Given the description of an element on the screen output the (x, y) to click on. 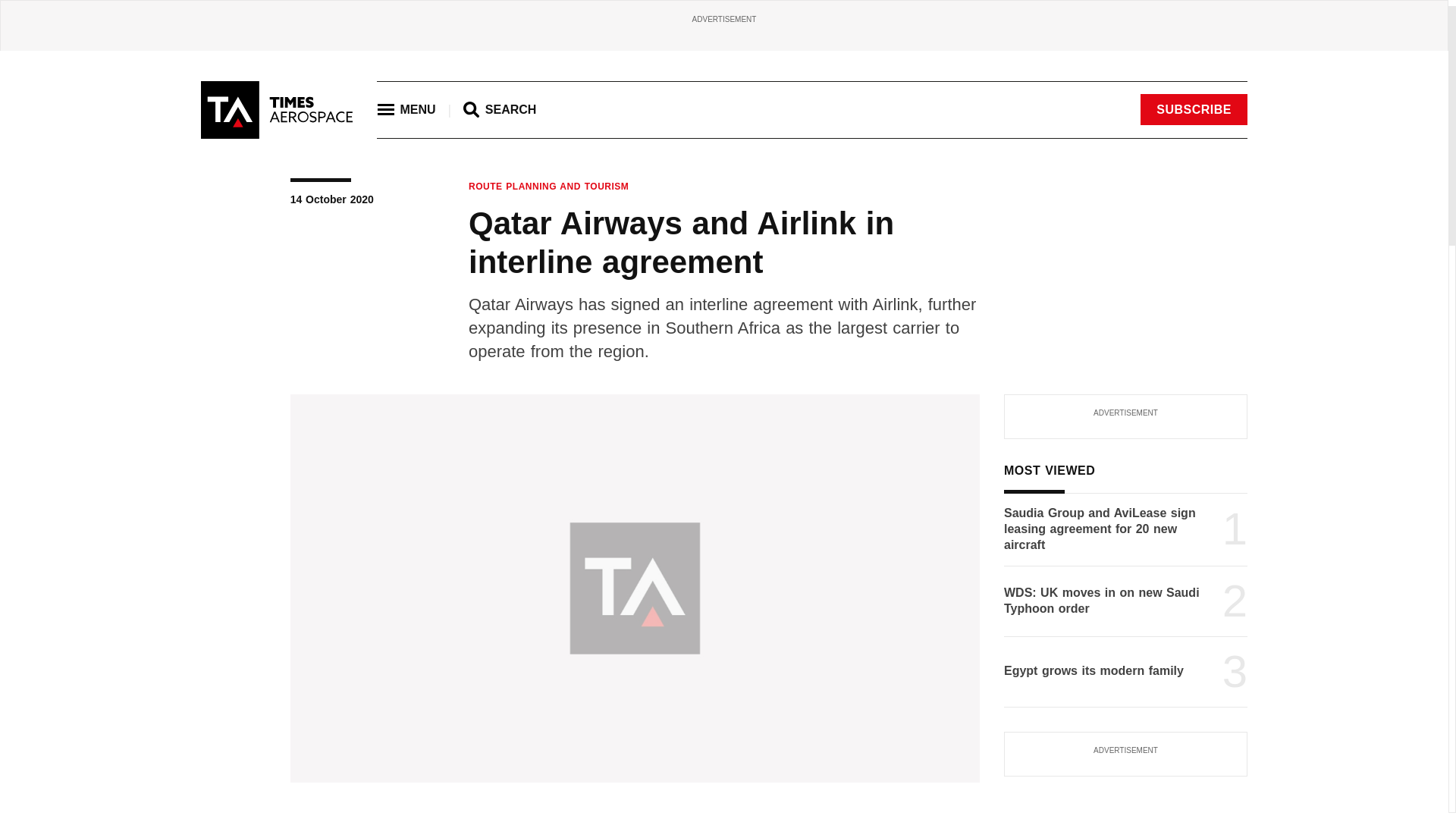
MENU (406, 110)
SUBSCRIBE (1193, 109)
ROUTE PLANNING AND TOURISM (548, 185)
SEARCH (499, 109)
